Given the description of an element on the screen output the (x, y) to click on. 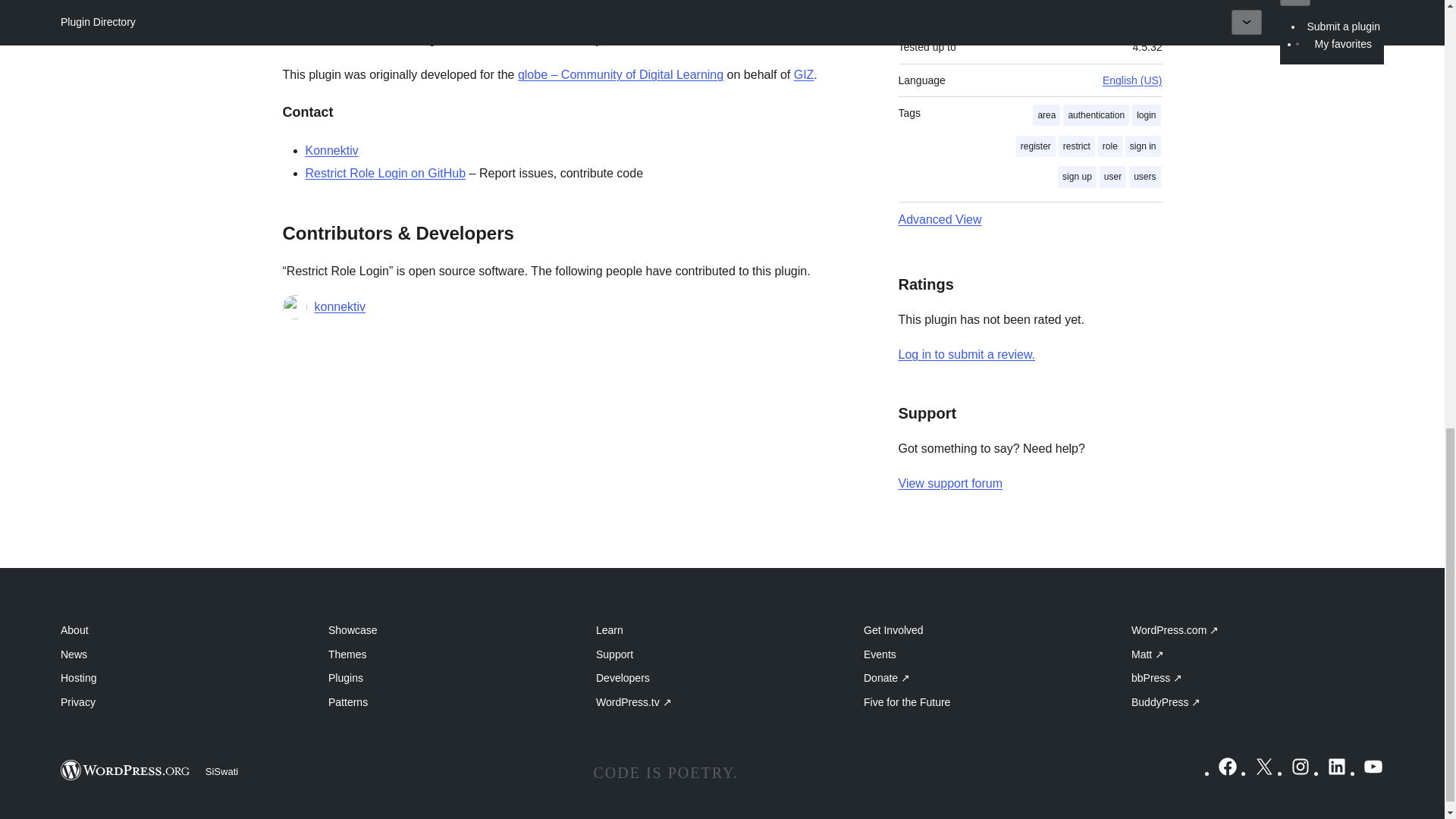
GIZ (803, 74)
konnektiv (339, 306)
Log in to WordPress.org (966, 354)
WordPress.org (125, 770)
Konnektiv (331, 150)
Restrict Role Login on GitHub (384, 173)
